Given the description of an element on the screen output the (x, y) to click on. 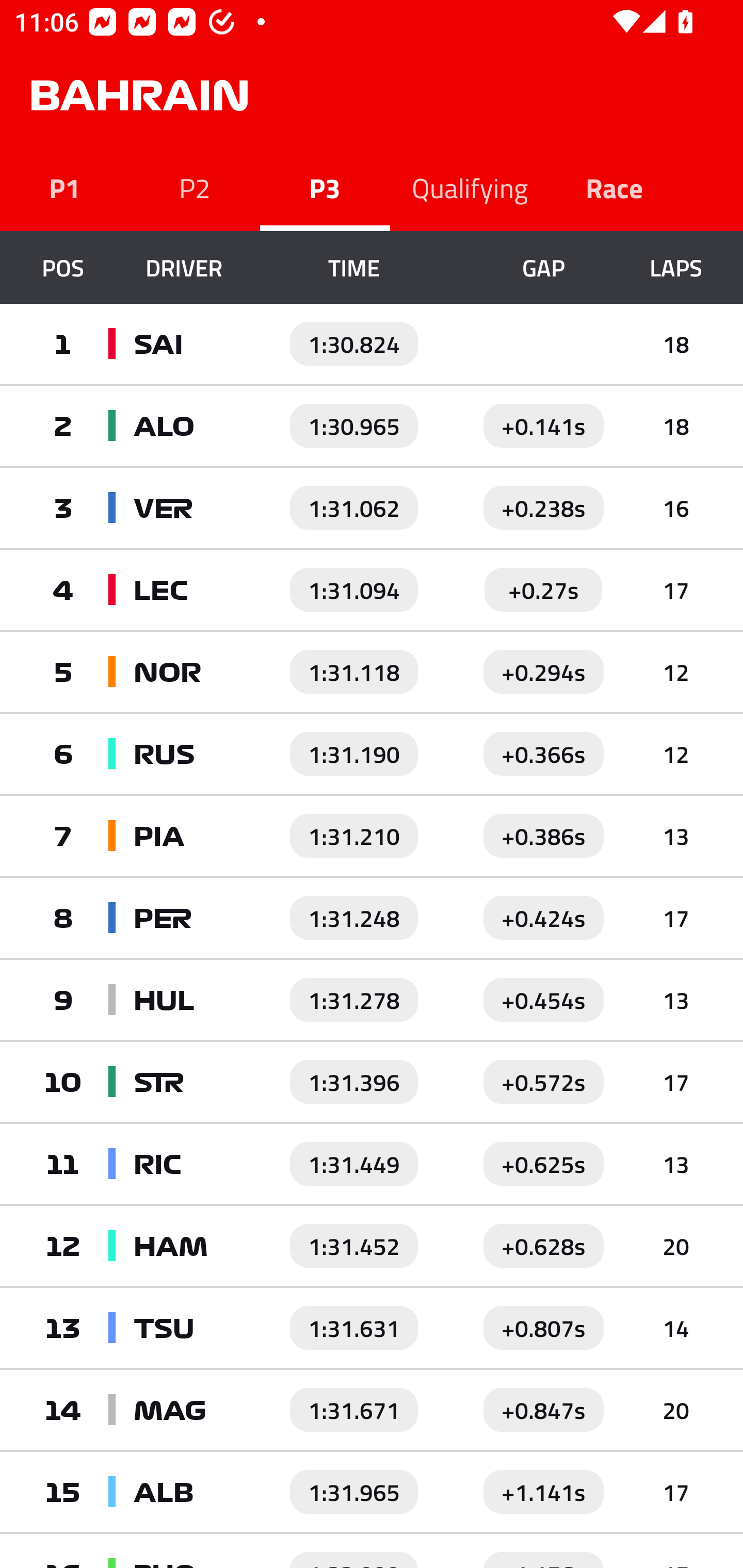
P1 (65, 187)
P2 (195, 187)
Qualifying (469, 187)
Race (614, 187)
